Given the description of an element on the screen output the (x, y) to click on. 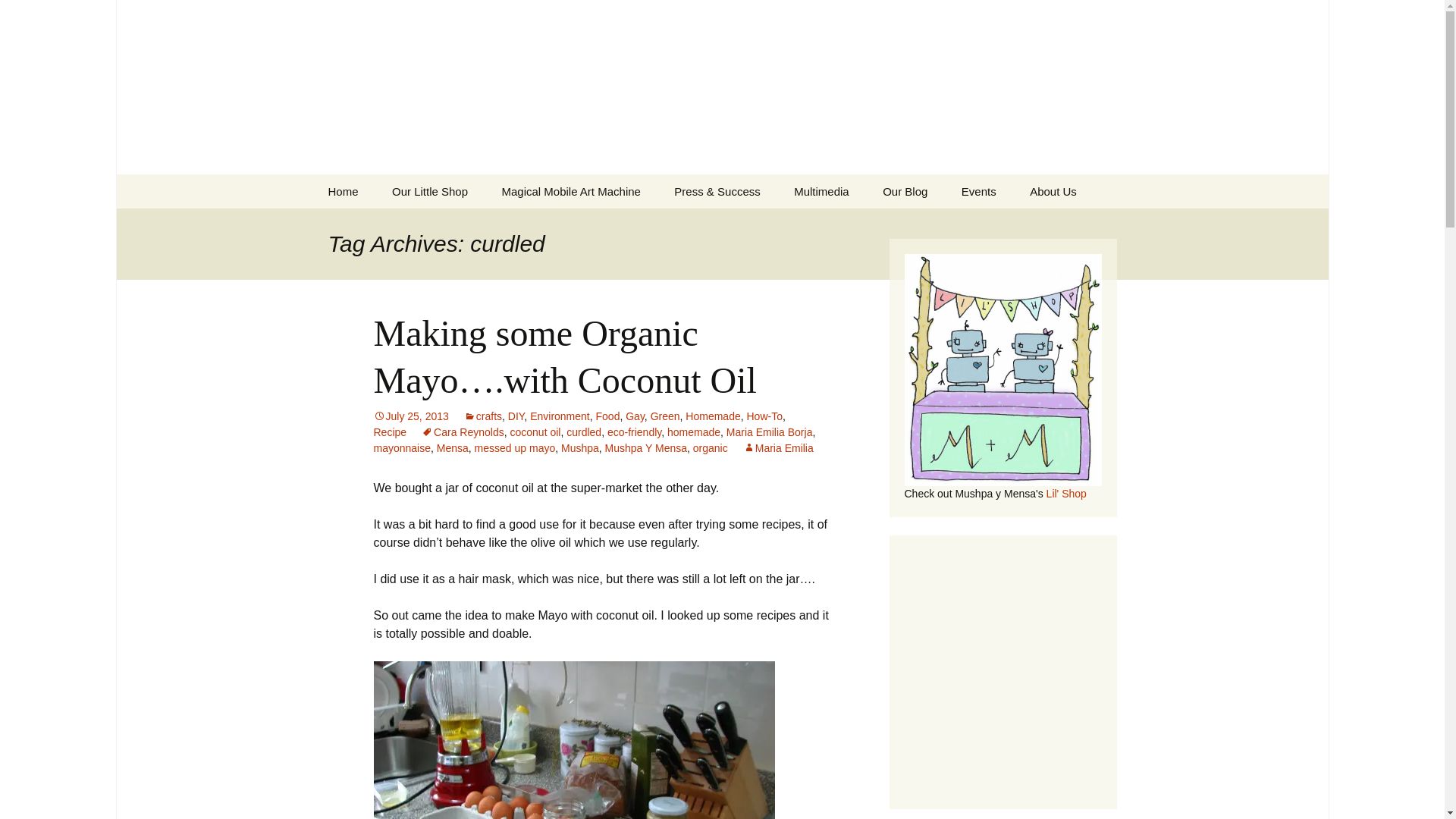
Multimedia (821, 191)
Links of Grandeur (734, 225)
Photos Of Our Peeps (854, 225)
Home (342, 191)
Green (664, 416)
Cara Reynolds (462, 431)
Food (607, 416)
Links of Grandeur (734, 225)
Search (18, 15)
About Us (1090, 225)
